Given the description of an element on the screen output the (x, y) to click on. 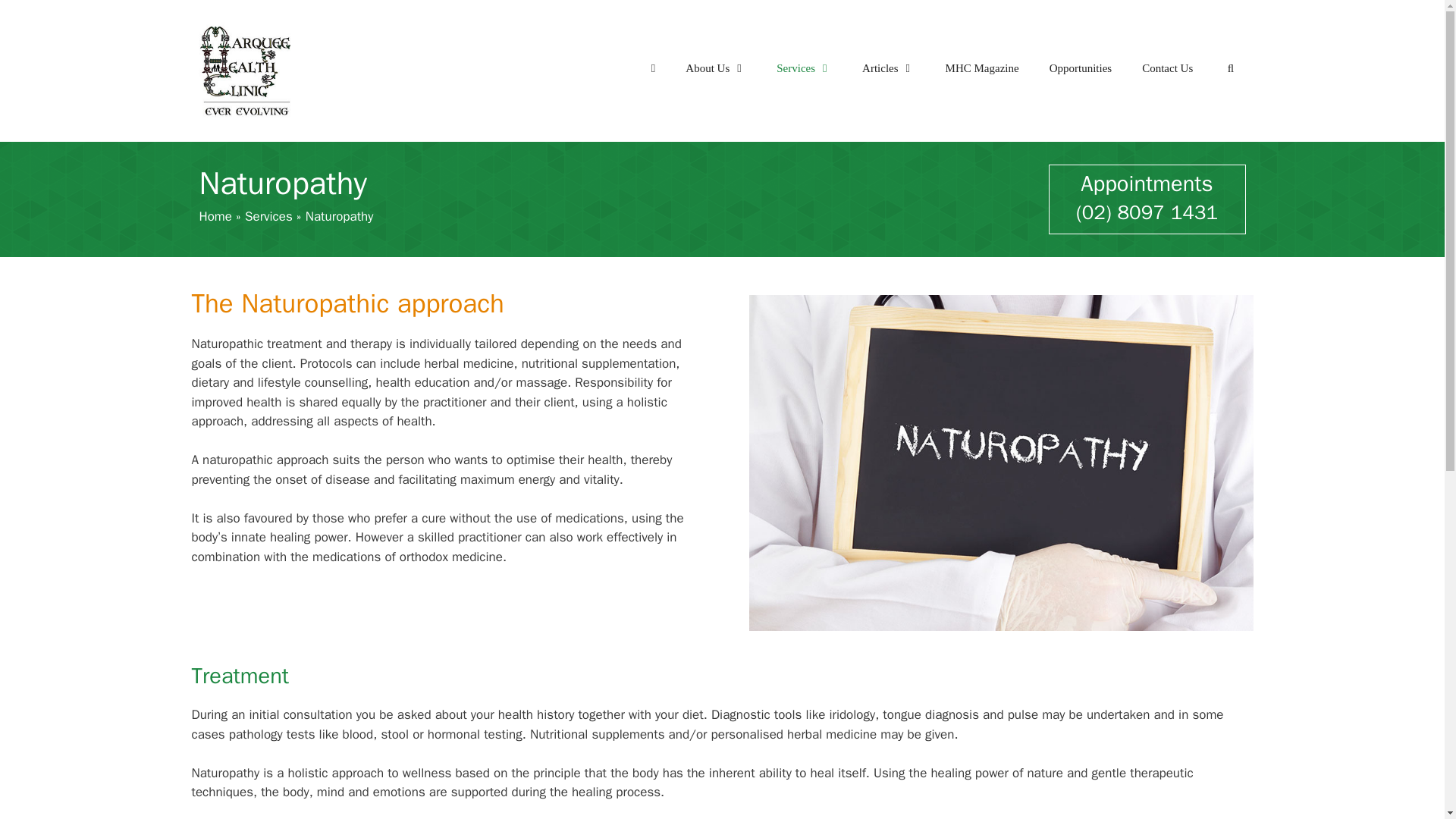
Opportunities (1079, 67)
Articles (888, 67)
About Us (715, 67)
MHC Magazine (981, 67)
Services (804, 67)
Contact Us (1167, 67)
